Given the description of an element on the screen output the (x, y) to click on. 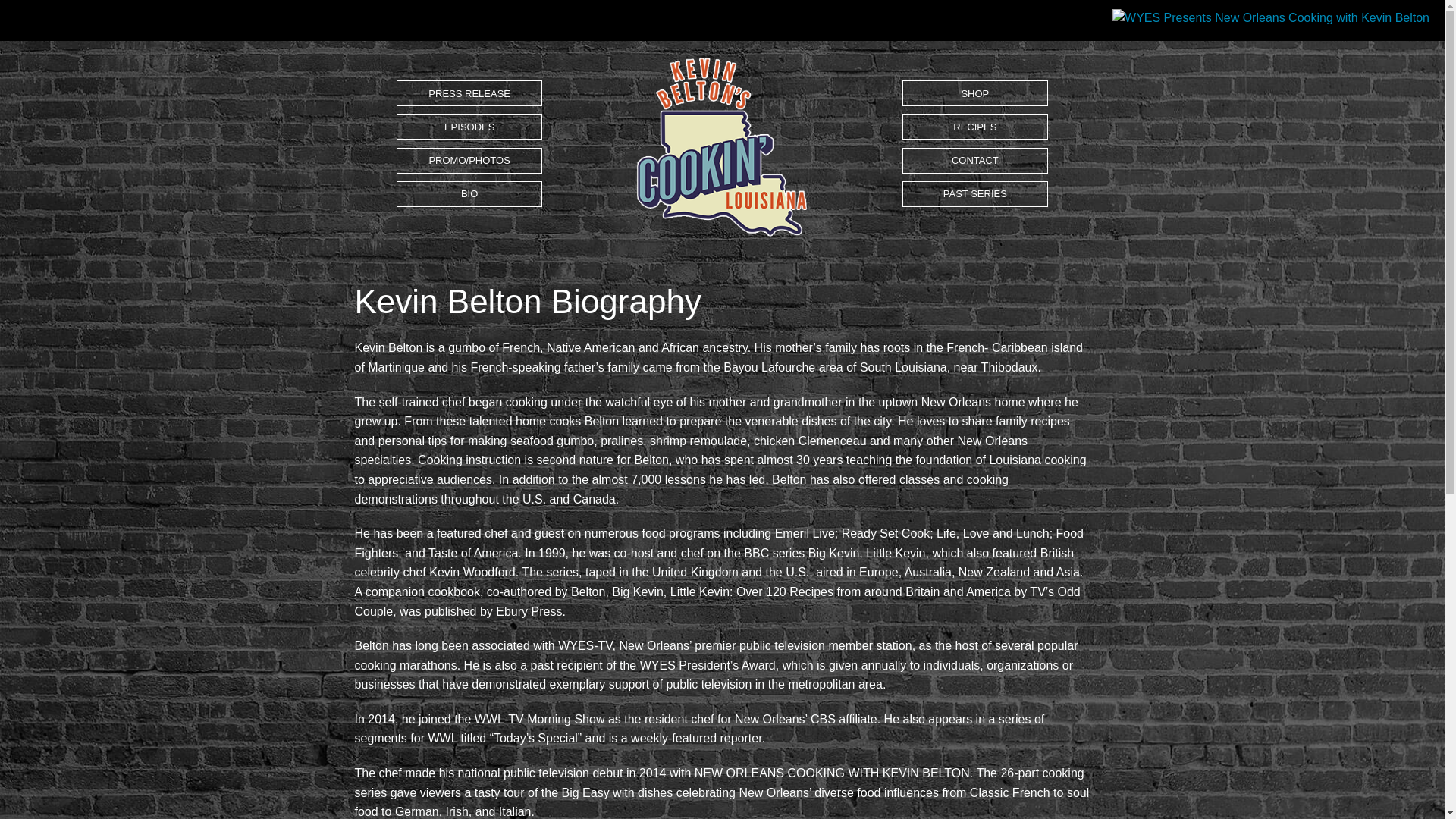
SHOP (975, 93)
RECIPES (975, 126)
EPISODES (468, 126)
PAST SERIES (975, 193)
CONTACT (975, 160)
WYES Presents New Orleans Cooking with Kevin Belton (721, 145)
BIO (468, 193)
PRESS RELEASE (468, 93)
